Given the description of an element on the screen output the (x, y) to click on. 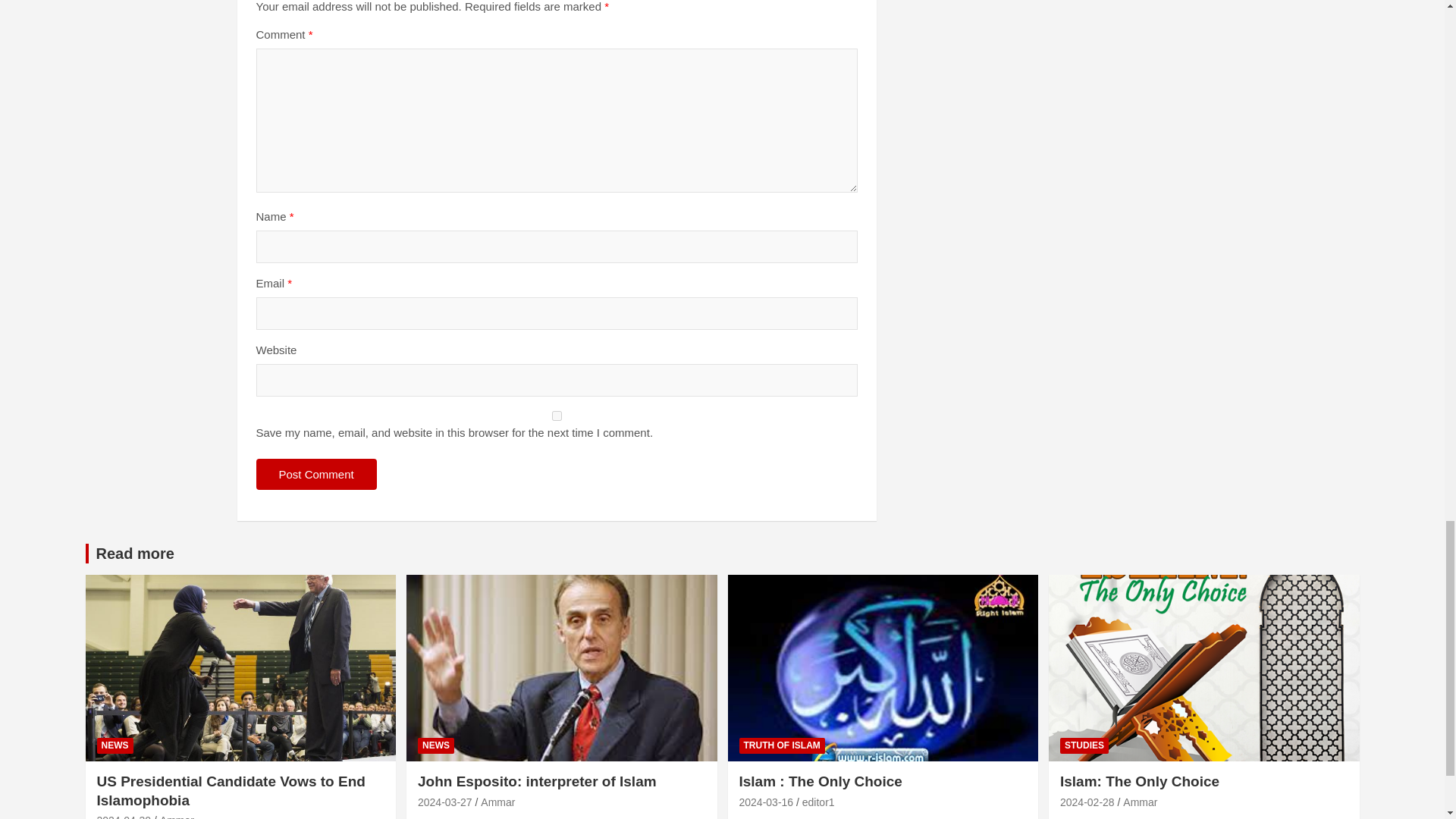
John Esposito: interpreter of Islam (444, 802)
yes (556, 415)
US Presidential Candidate Vows to End Islamophobia (124, 816)
Islam : The Only Choice (765, 802)
Post Comment (316, 473)
Islam: The Only Choice (1087, 802)
